Given the description of an element on the screen output the (x, y) to click on. 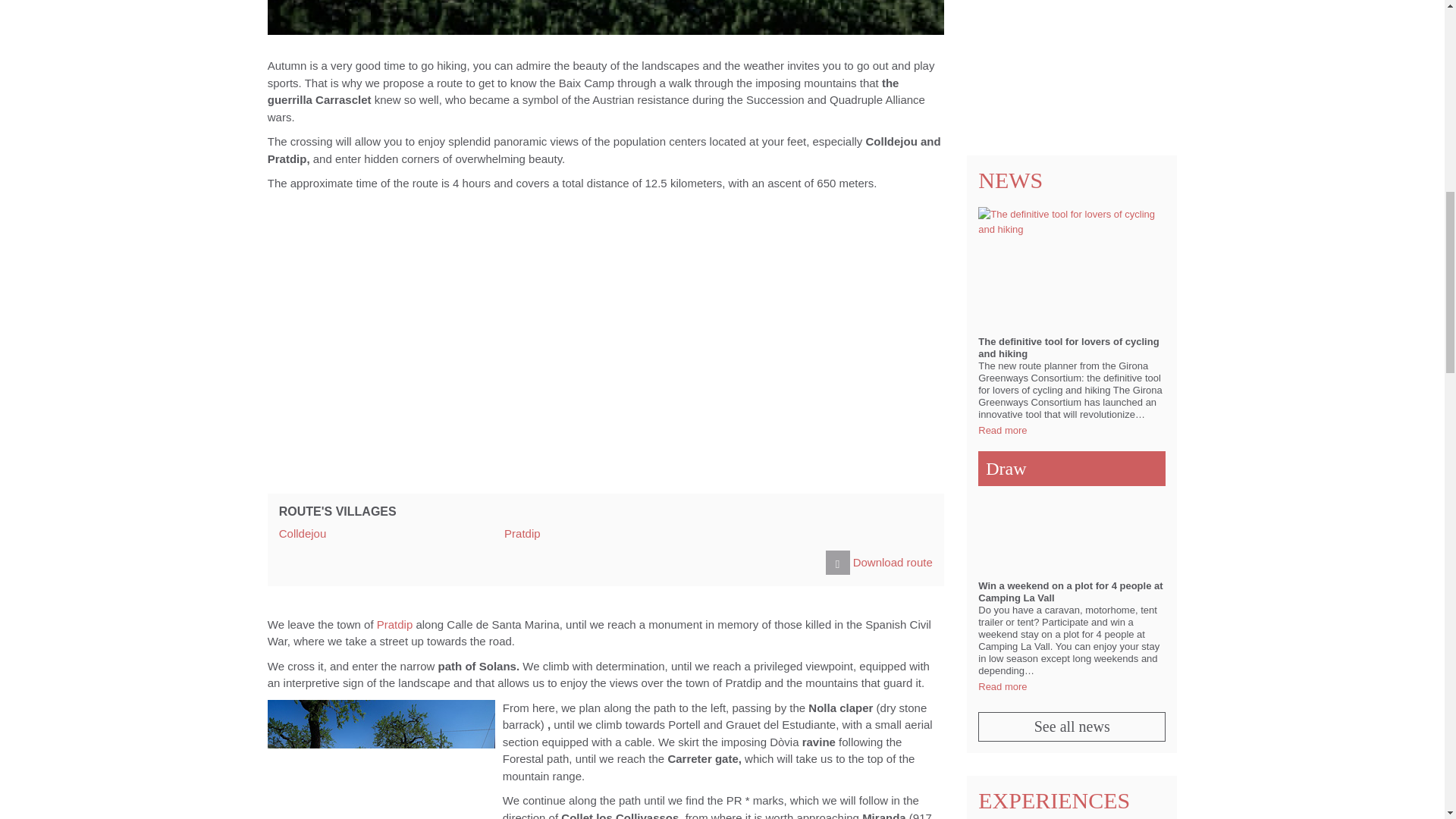
Pratdip (521, 533)
Pratdip (395, 624)
Download route (879, 562)
Colldejou (302, 533)
